Given the description of an element on the screen output the (x, y) to click on. 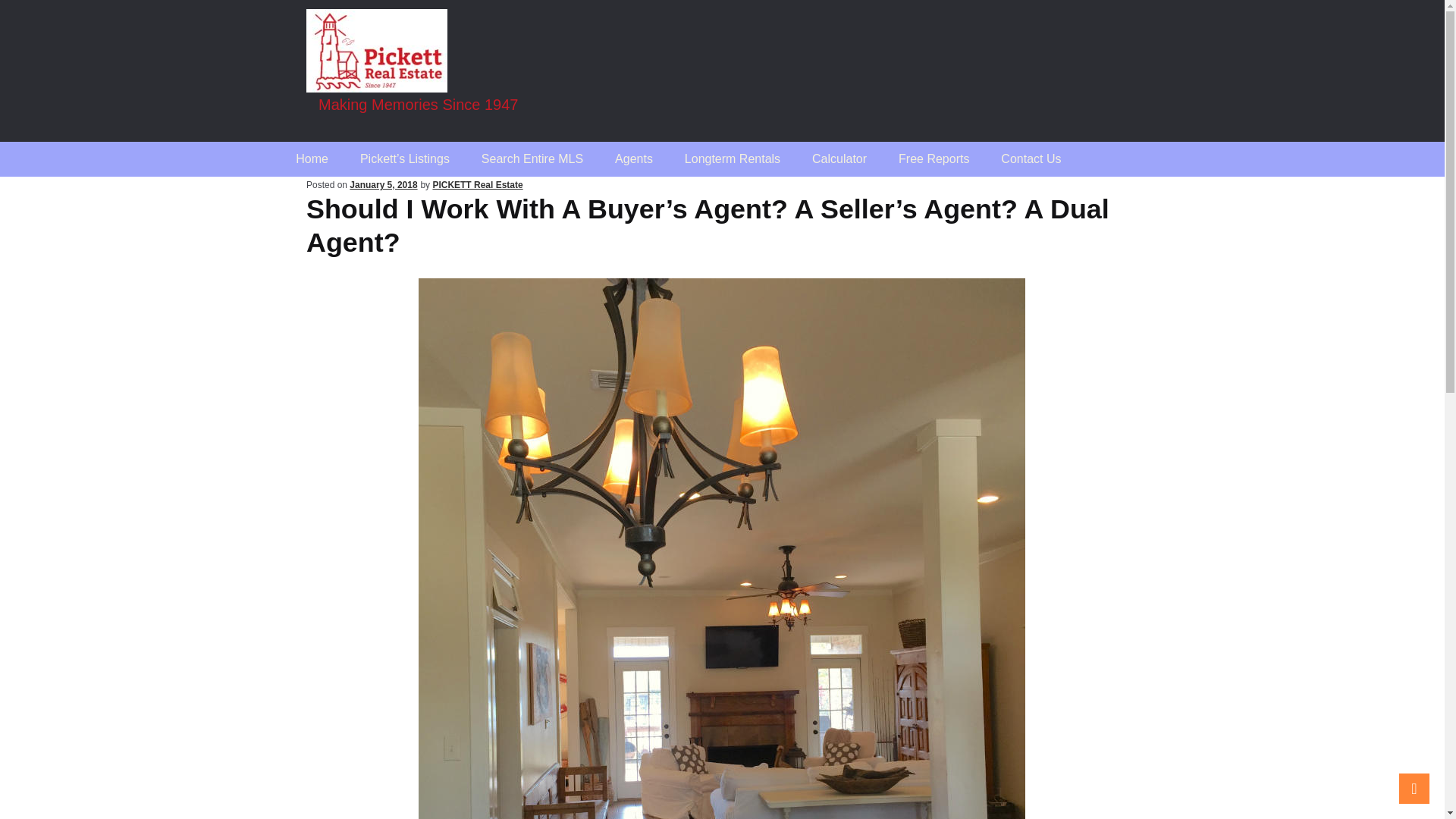
Calculator (839, 158)
Contact Us (1031, 158)
PICKETT Real Estate (477, 184)
Search Entire MLS (532, 158)
Home (312, 158)
Free Reports (933, 158)
Agents (633, 158)
Longterm Rentals (732, 158)
January 5, 2018 (382, 184)
